Given the description of an element on the screen output the (x, y) to click on. 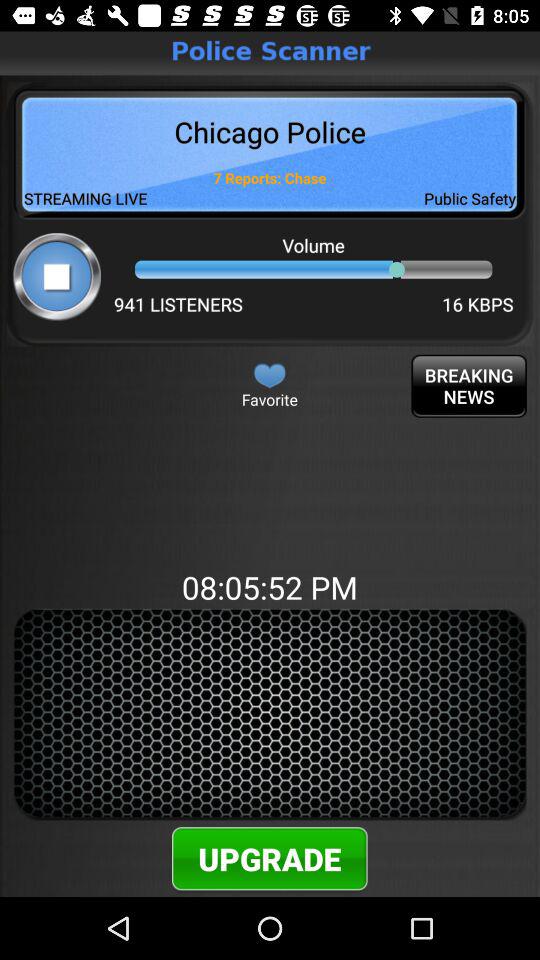
stop button (56, 276)
